Given the description of an element on the screen output the (x, y) to click on. 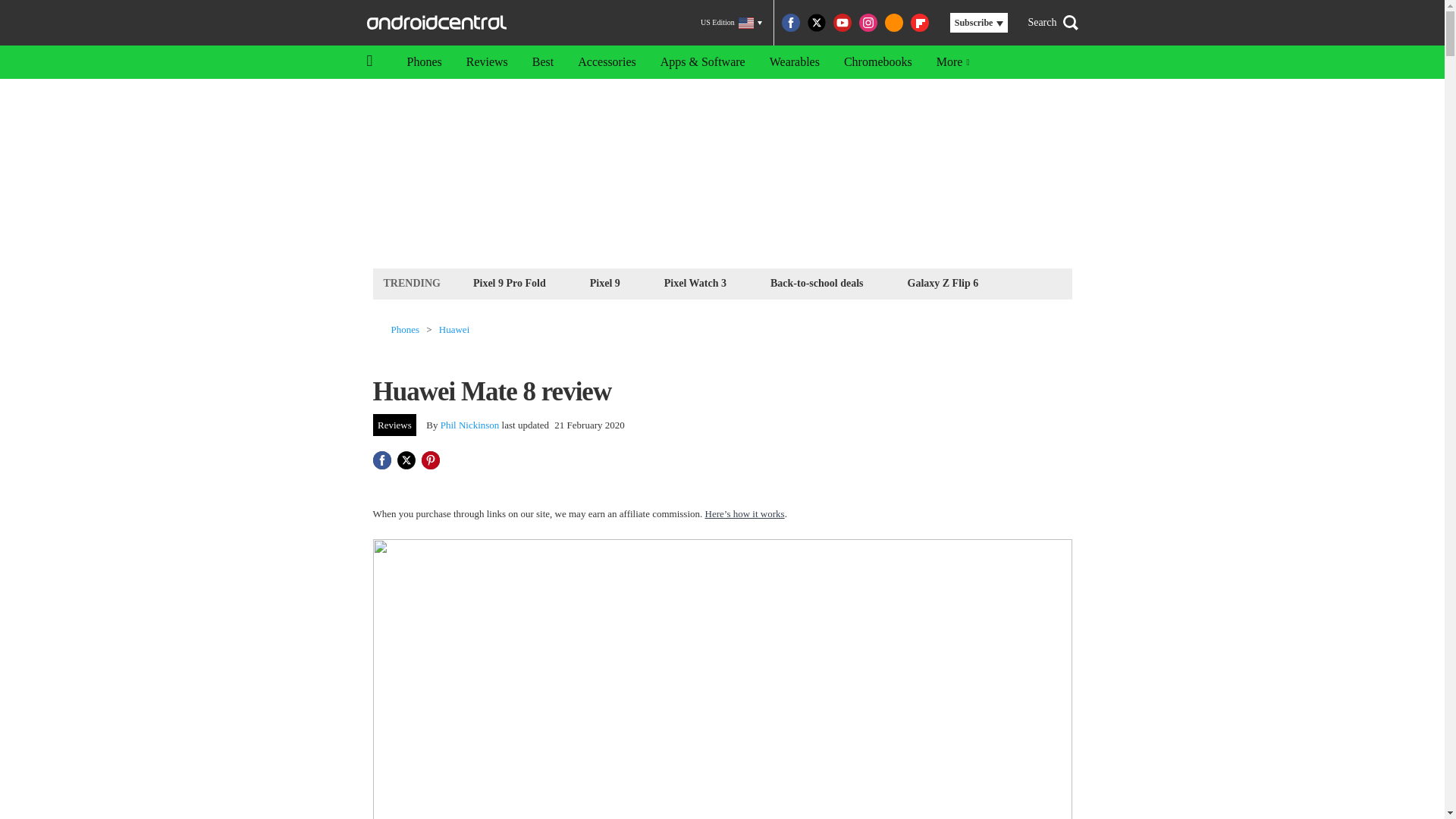
Reviews (394, 425)
Chromebooks (877, 61)
Accessories (606, 61)
US Edition (731, 22)
Pixel 9 Pro Fold (509, 282)
Huawei (453, 328)
Wearables (794, 61)
Phil Nickinson (470, 424)
Reviews (486, 61)
Pixel 9 (605, 282)
